Given the description of an element on the screen output the (x, y) to click on. 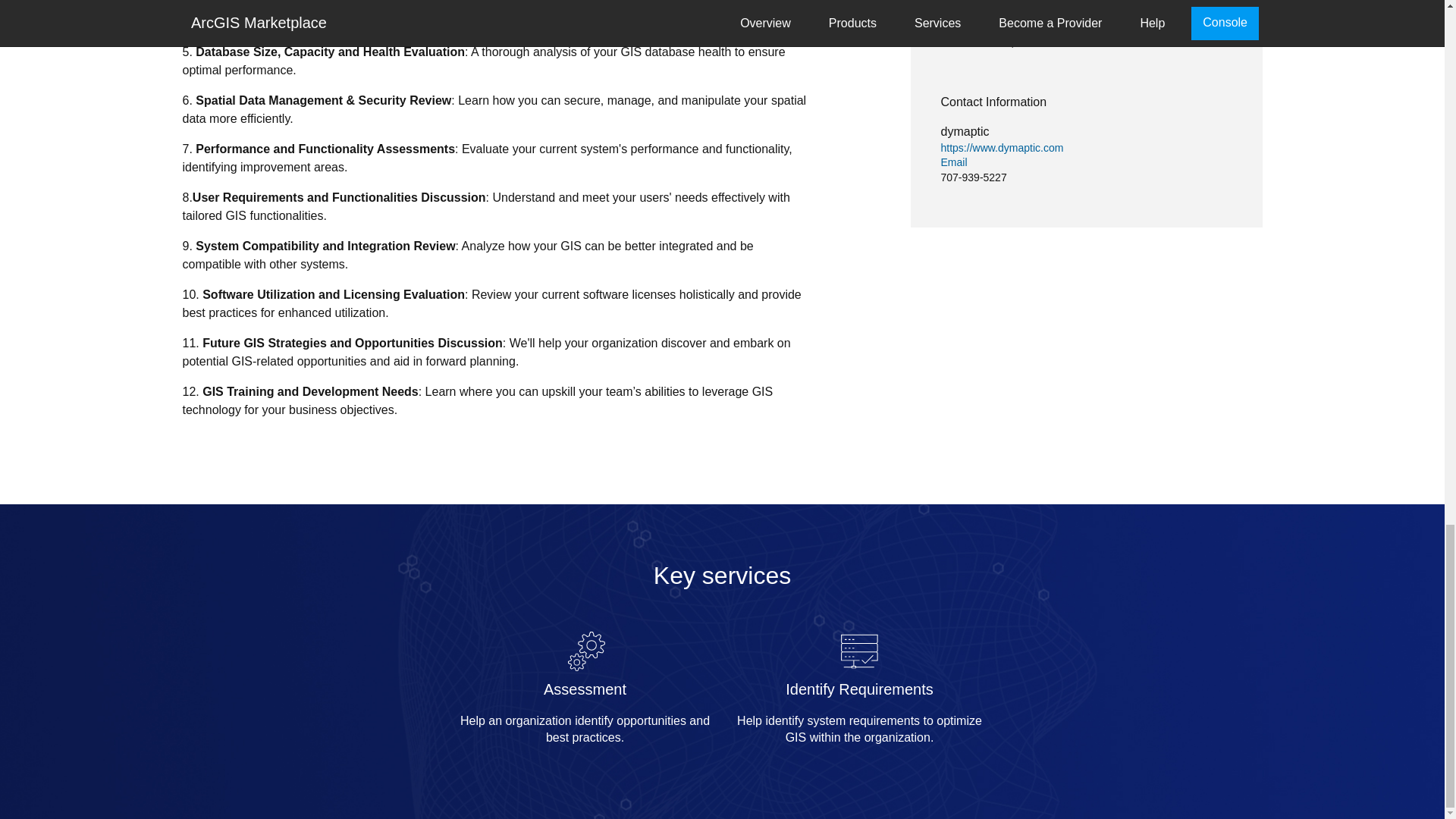
Email (1085, 162)
